Given the description of an element on the screen output the (x, y) to click on. 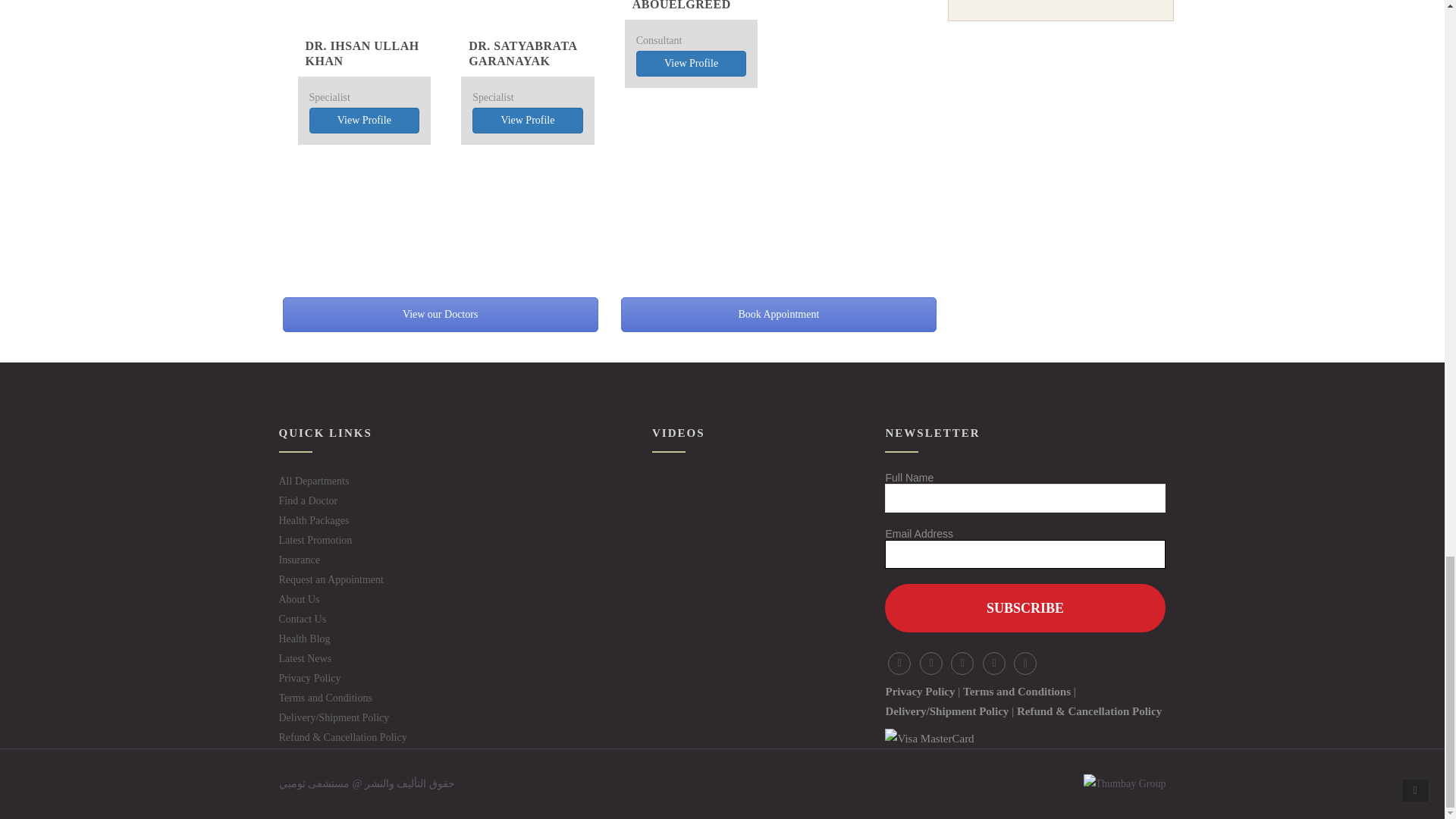
Subscribe (1025, 607)
YouTube video player (722, 662)
YouTube video player (722, 528)
